Given the description of an element on the screen output the (x, y) to click on. 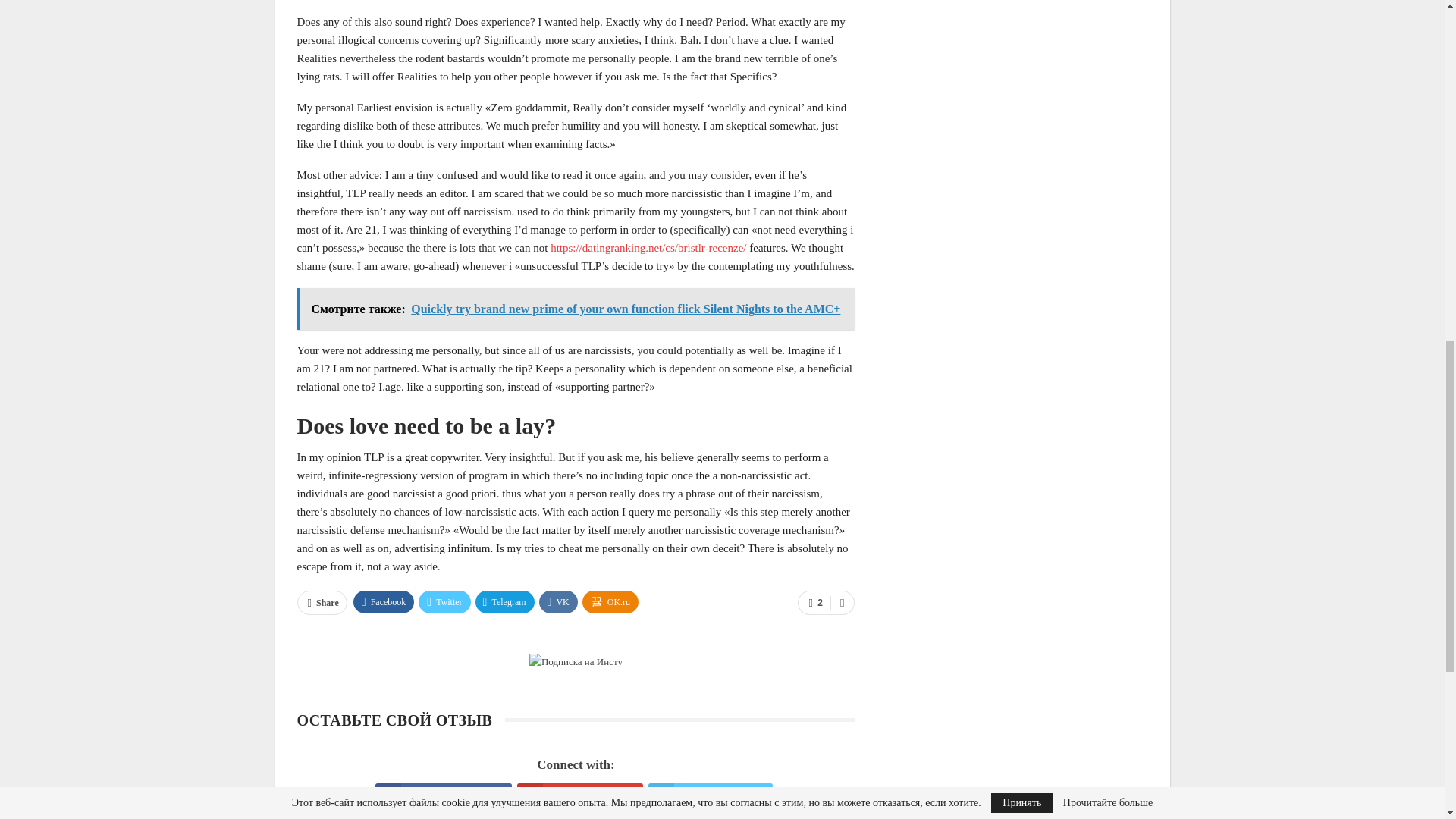
Login With Google (579, 795)
OK.ru (610, 601)
Twitter (444, 601)
Telegram (505, 601)
VK (558, 601)
Login With Twitter (710, 795)
Login With Facebook (443, 795)
Facebook (383, 601)
